Given the description of an element on the screen output the (x, y) to click on. 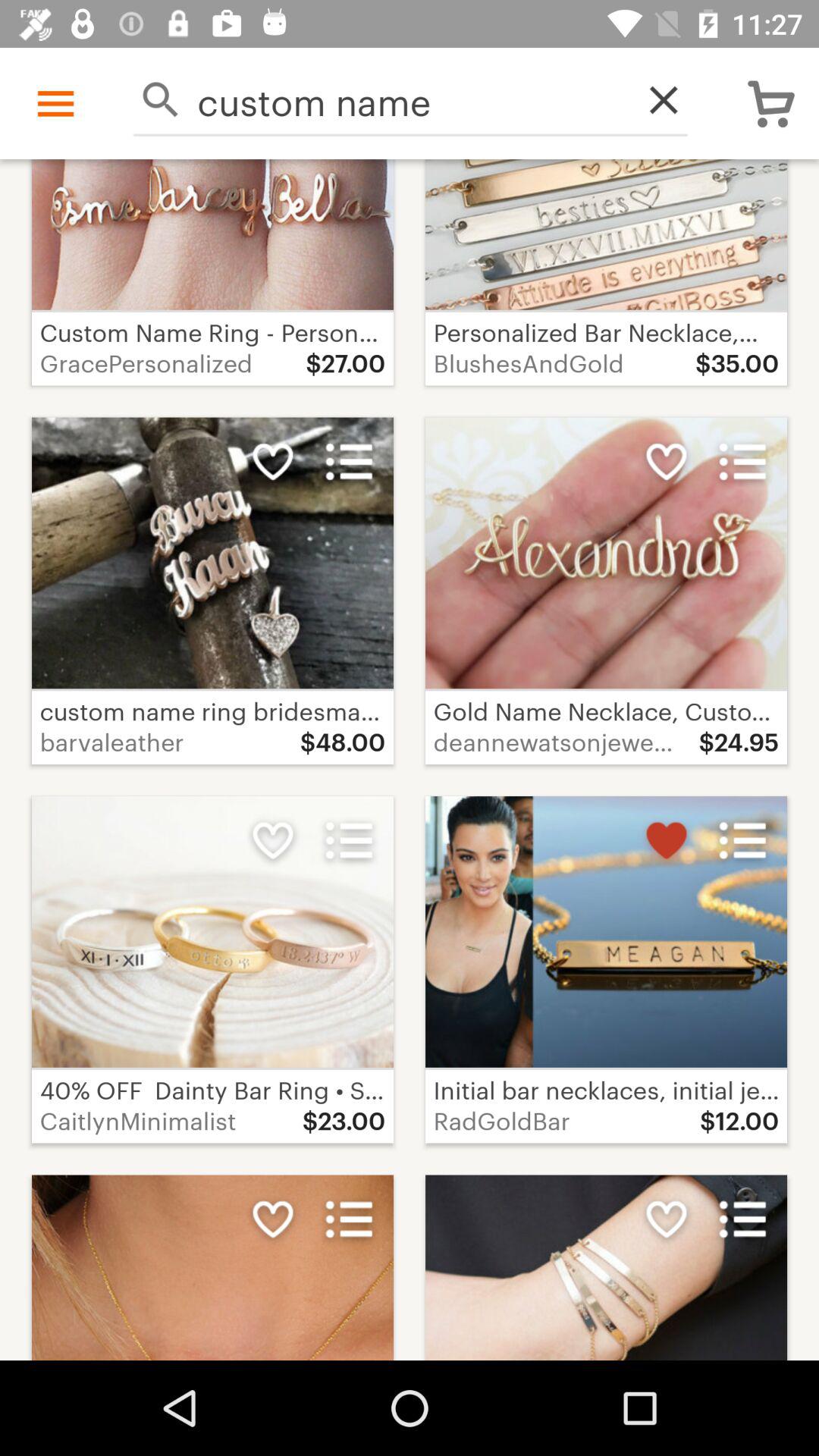
launch the icon to the right of custom name (655, 99)
